Given the description of an element on the screen output the (x, y) to click on. 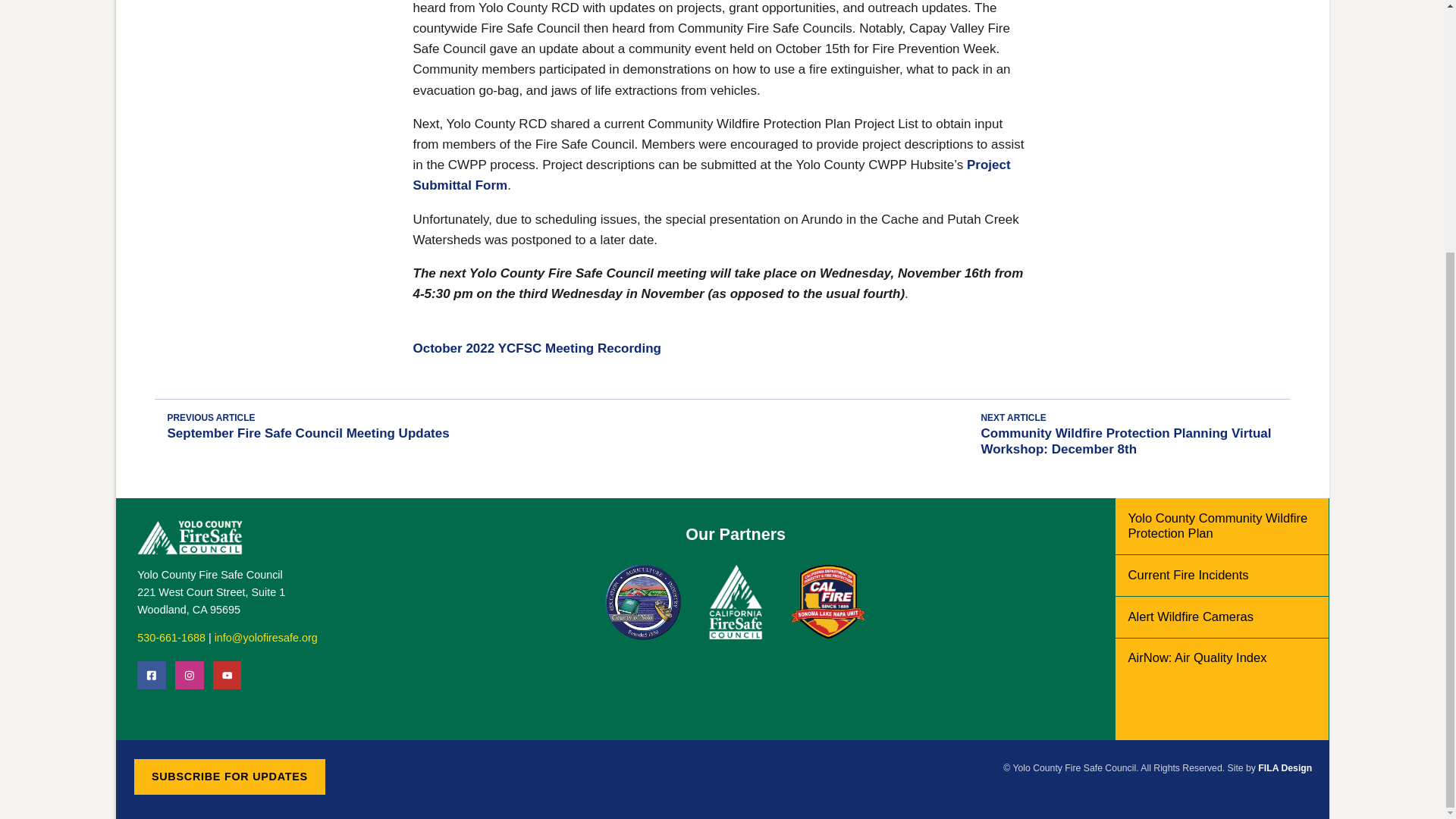
YCFSC Youtube (226, 675)
YCFSC Facebook (150, 675)
YCFSC Instagram (188, 675)
